Given the description of an element on the screen output the (x, y) to click on. 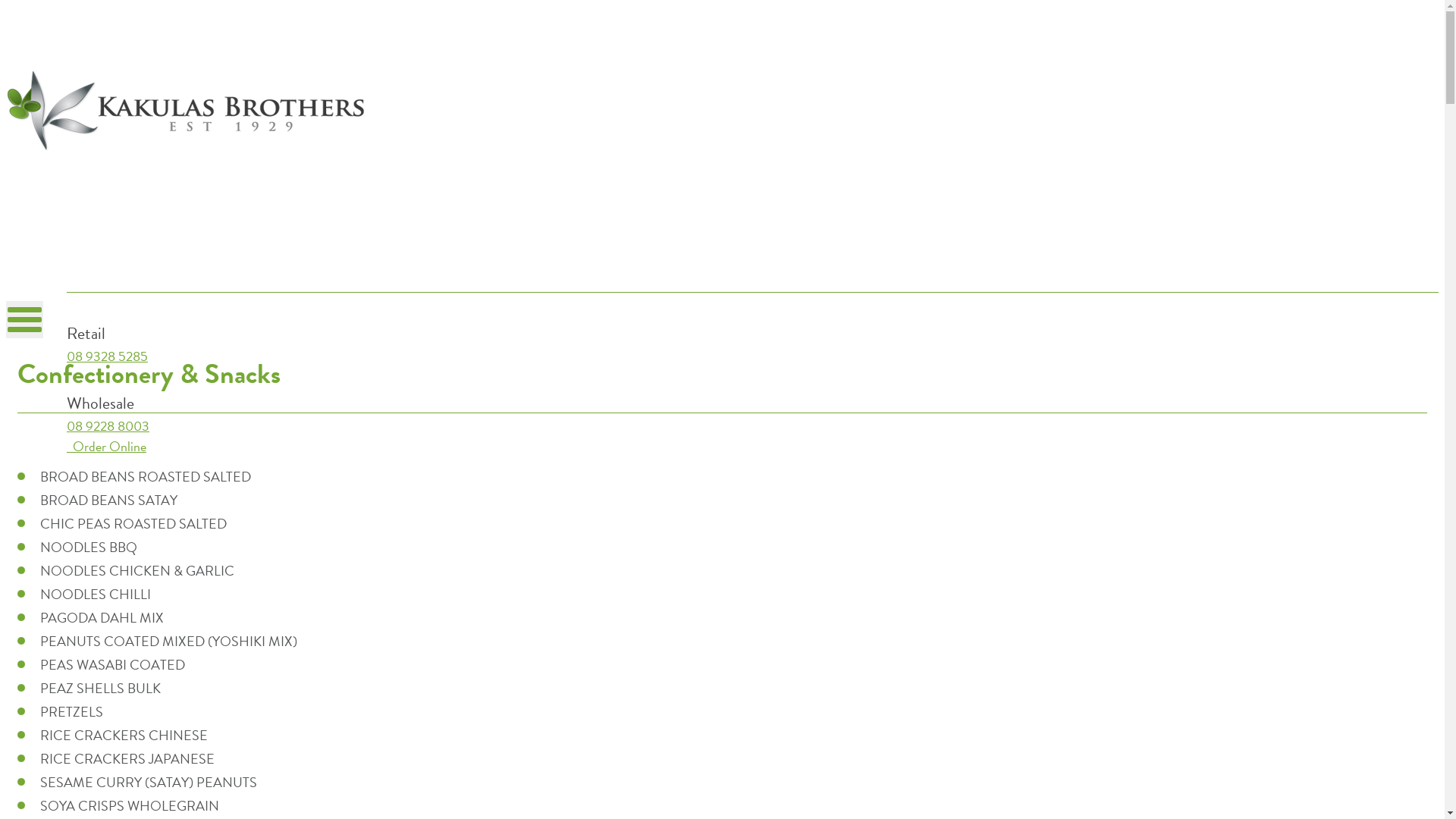
08 9328 5285 Element type: text (106, 355)
08 9228 8003 Element type: text (107, 425)
  Order Online Element type: text (106, 446)
